Given the description of an element on the screen output the (x, y) to click on. 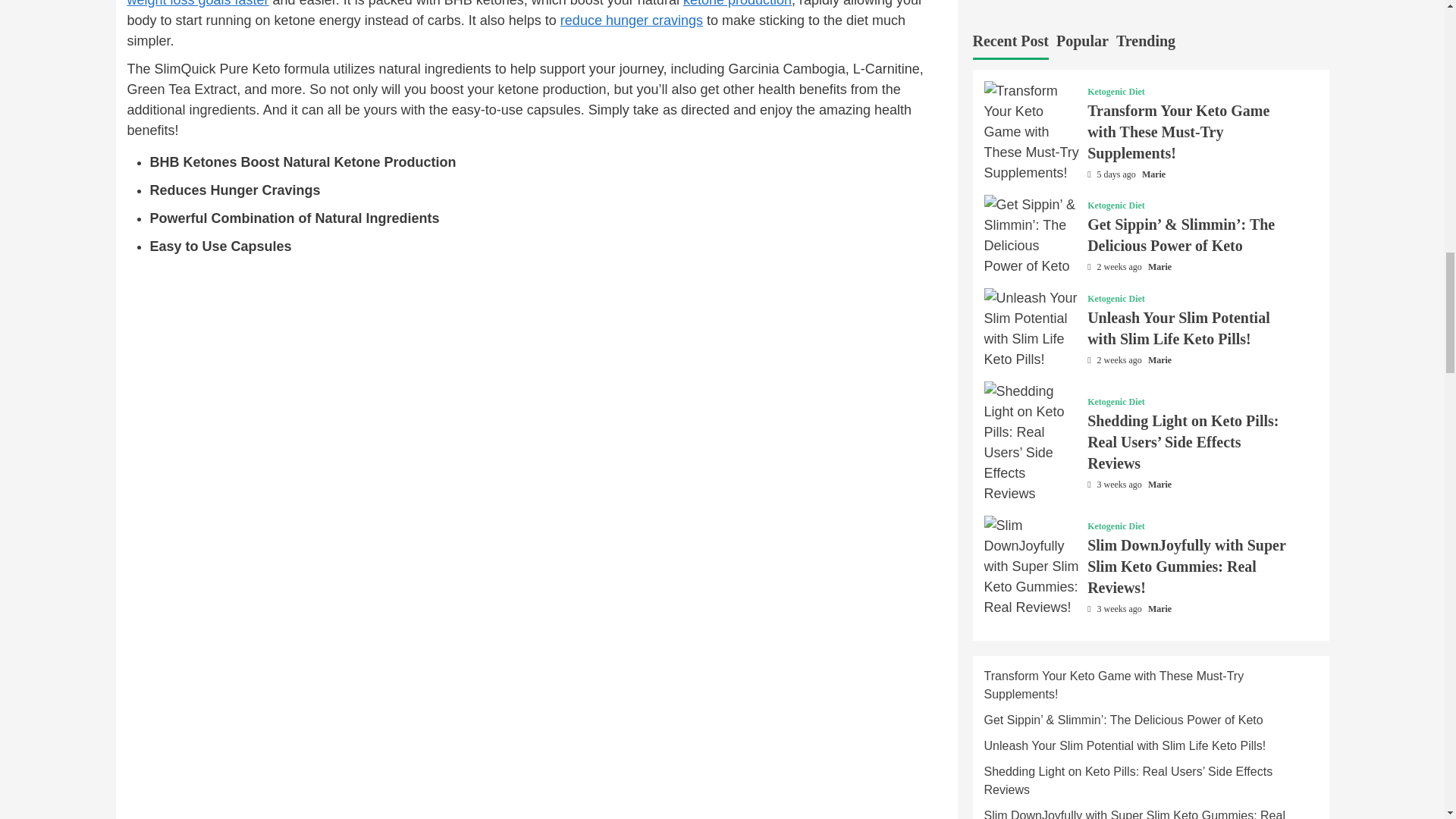
ketone production (737, 3)
weight loss goals faster (198, 3)
reduce hunger cravings (631, 20)
Day Pills: Achieve Slim Life With Keto! (631, 20)
Lose Weight Fast with Slimquick Pure Keto! (198, 3)
